Given the description of an element on the screen output the (x, y) to click on. 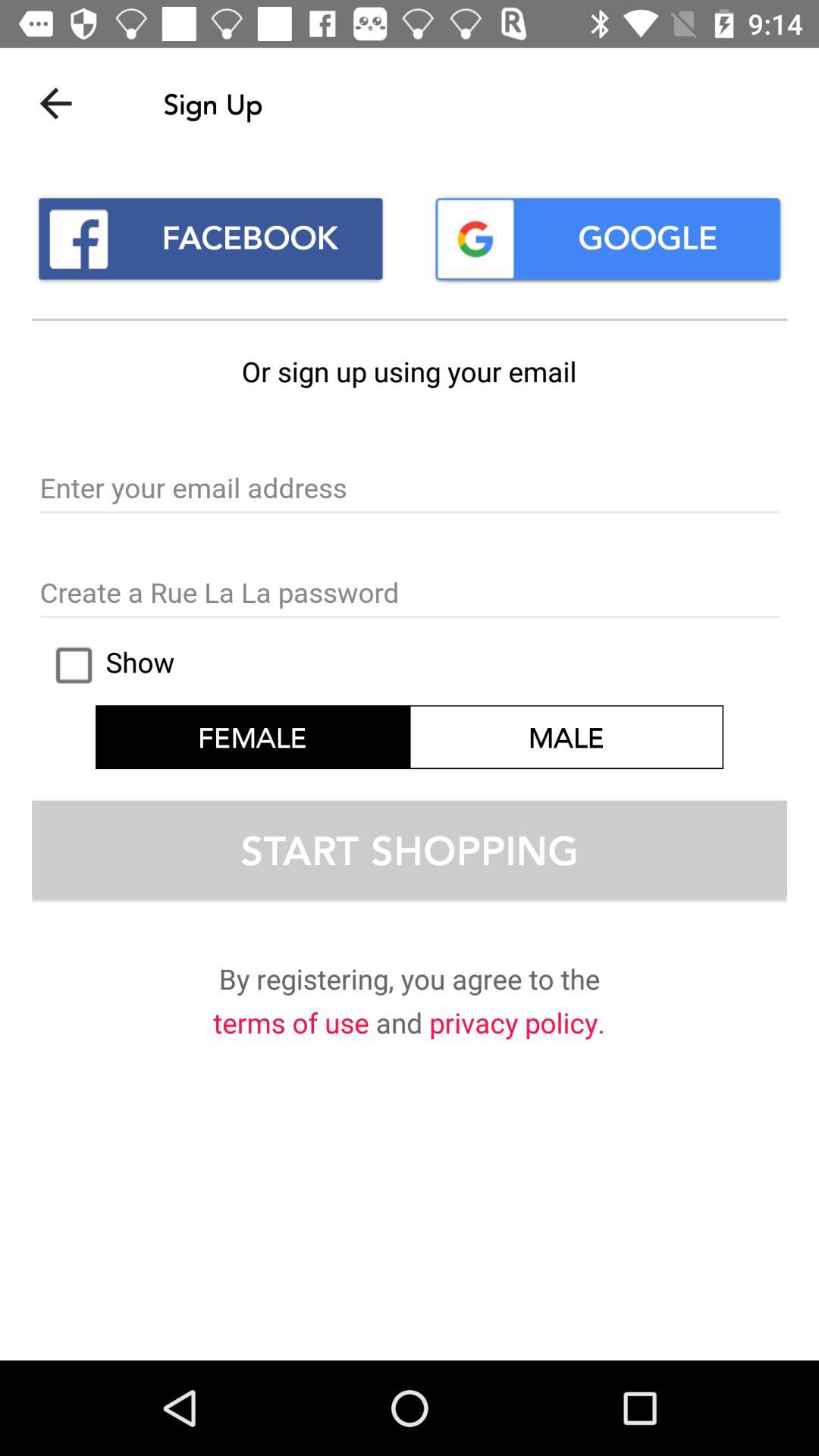
enter your email to sign up (409, 488)
